Given the description of an element on the screen output the (x, y) to click on. 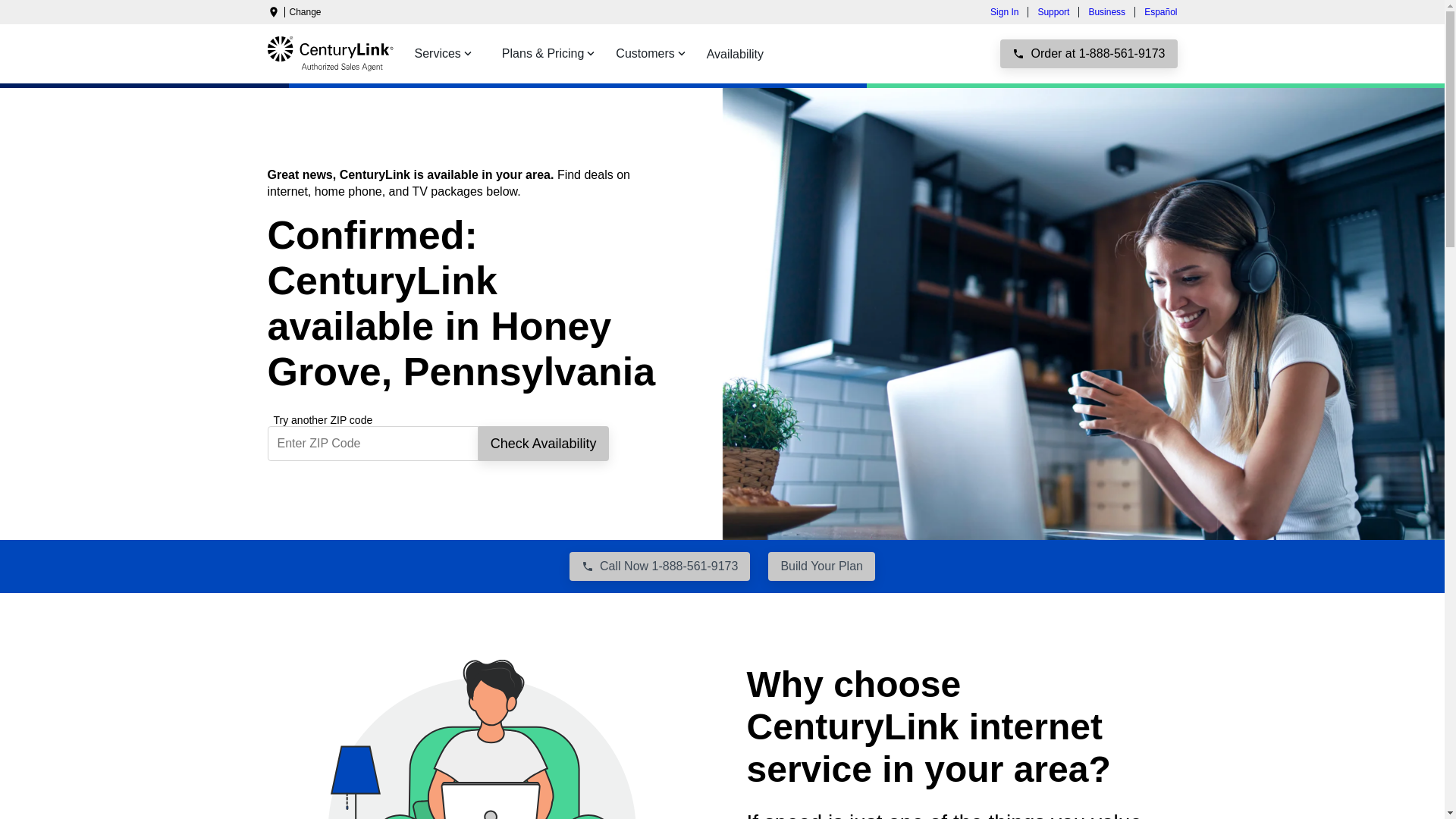
Call Now 1-888-561-9173 (659, 566)
Services (443, 53)
Availability (735, 54)
Order at 1-888-561-9173 (1088, 53)
Check Availability (543, 443)
Sign In (1008, 11)
Business (1106, 11)
Customers (652, 53)
Build Your Plan (821, 566)
Support (1052, 11)
